Given the description of an element on the screen output the (x, y) to click on. 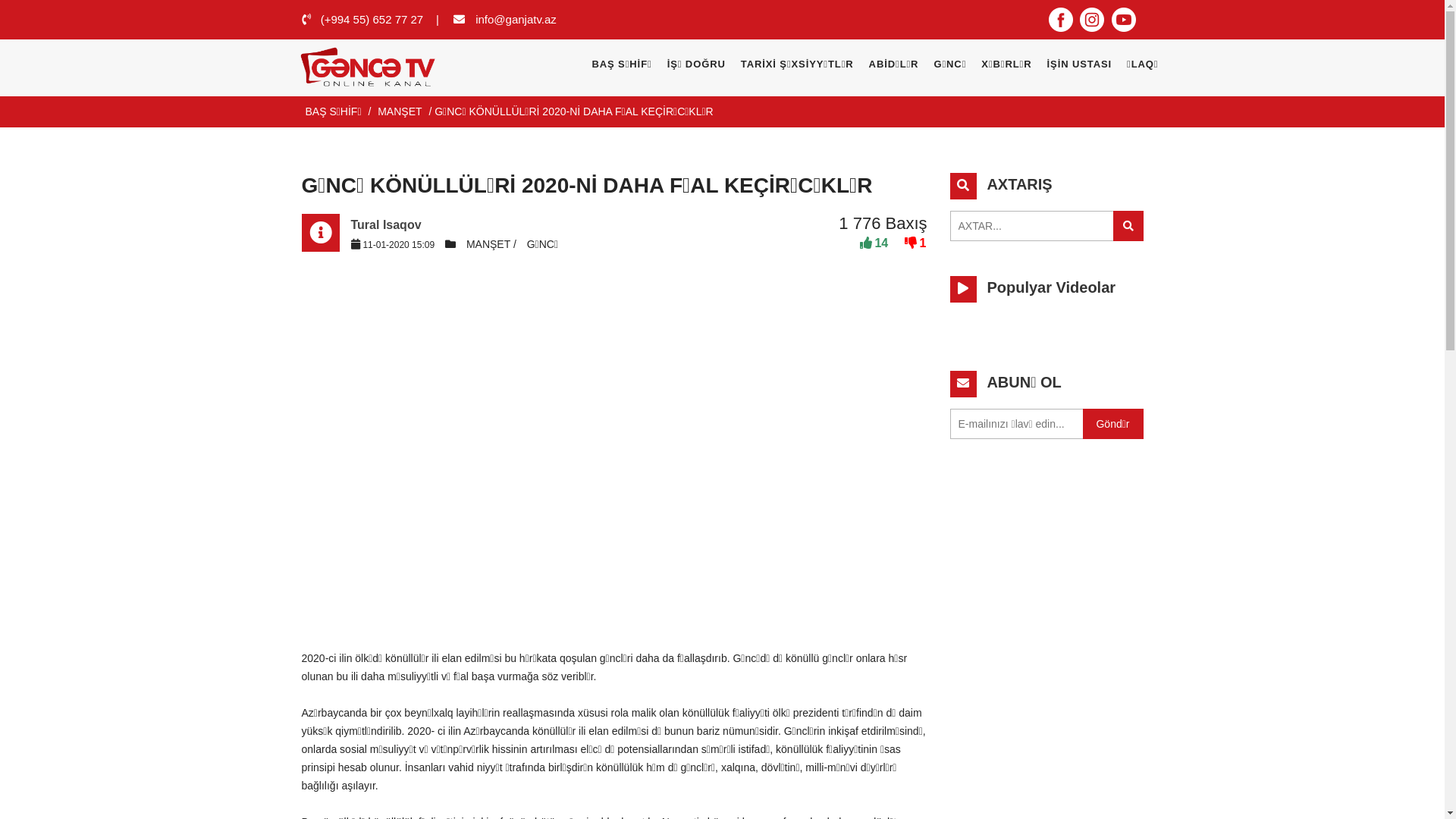
Tural Isaqov Element type: text (385, 224)
info@ganjatv.az Element type: text (517, 18)
logo Element type: hover (381, 67)
YouTube video player Element type: hover (614, 447)
14 Element type: text (873, 243)
1 Element type: text (914, 243)
